Given the description of an element on the screen output the (x, y) to click on. 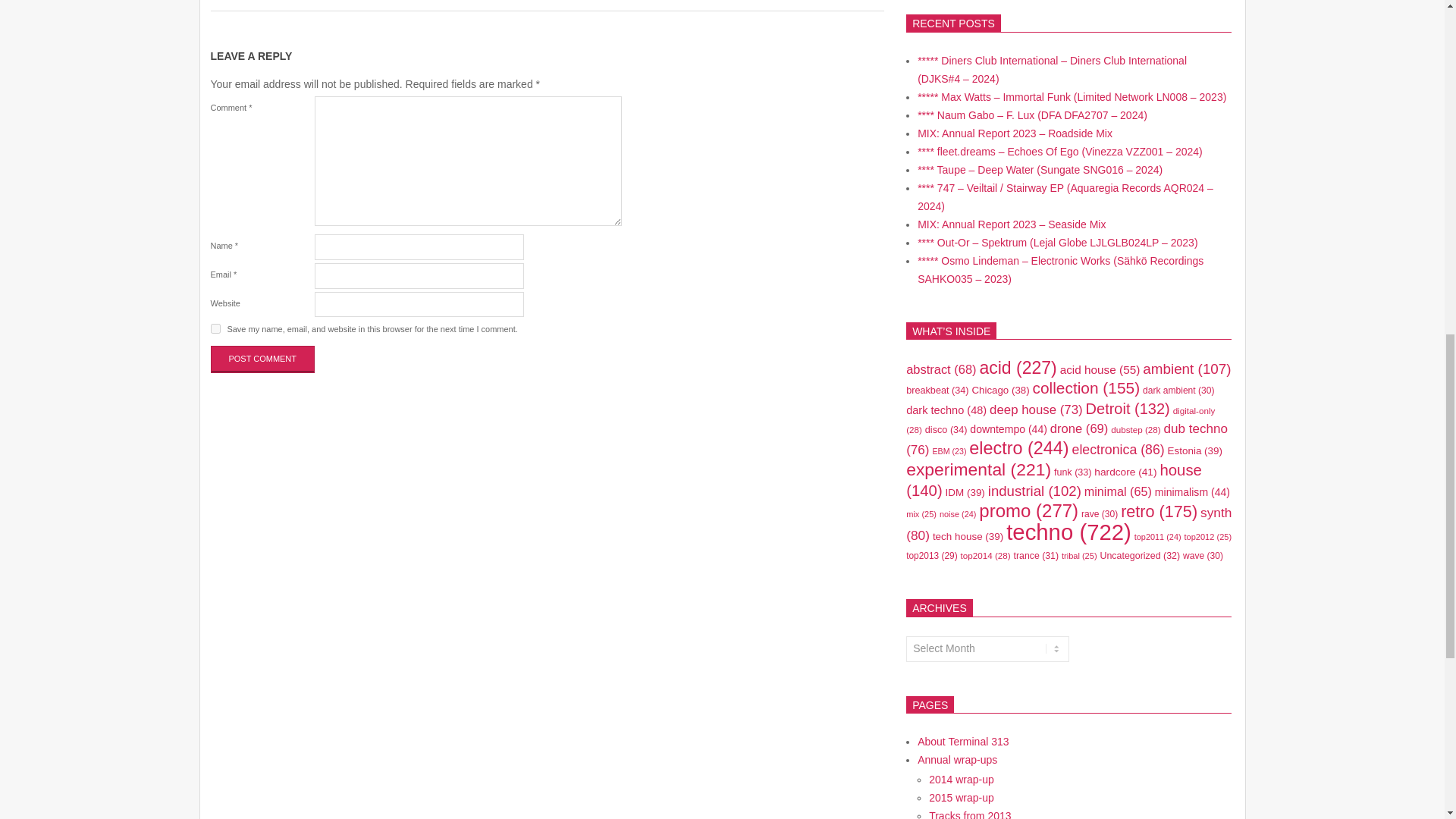
Post Comment (263, 359)
Post Comment (263, 359)
yes (216, 328)
